Given the description of an element on the screen output the (x, y) to click on. 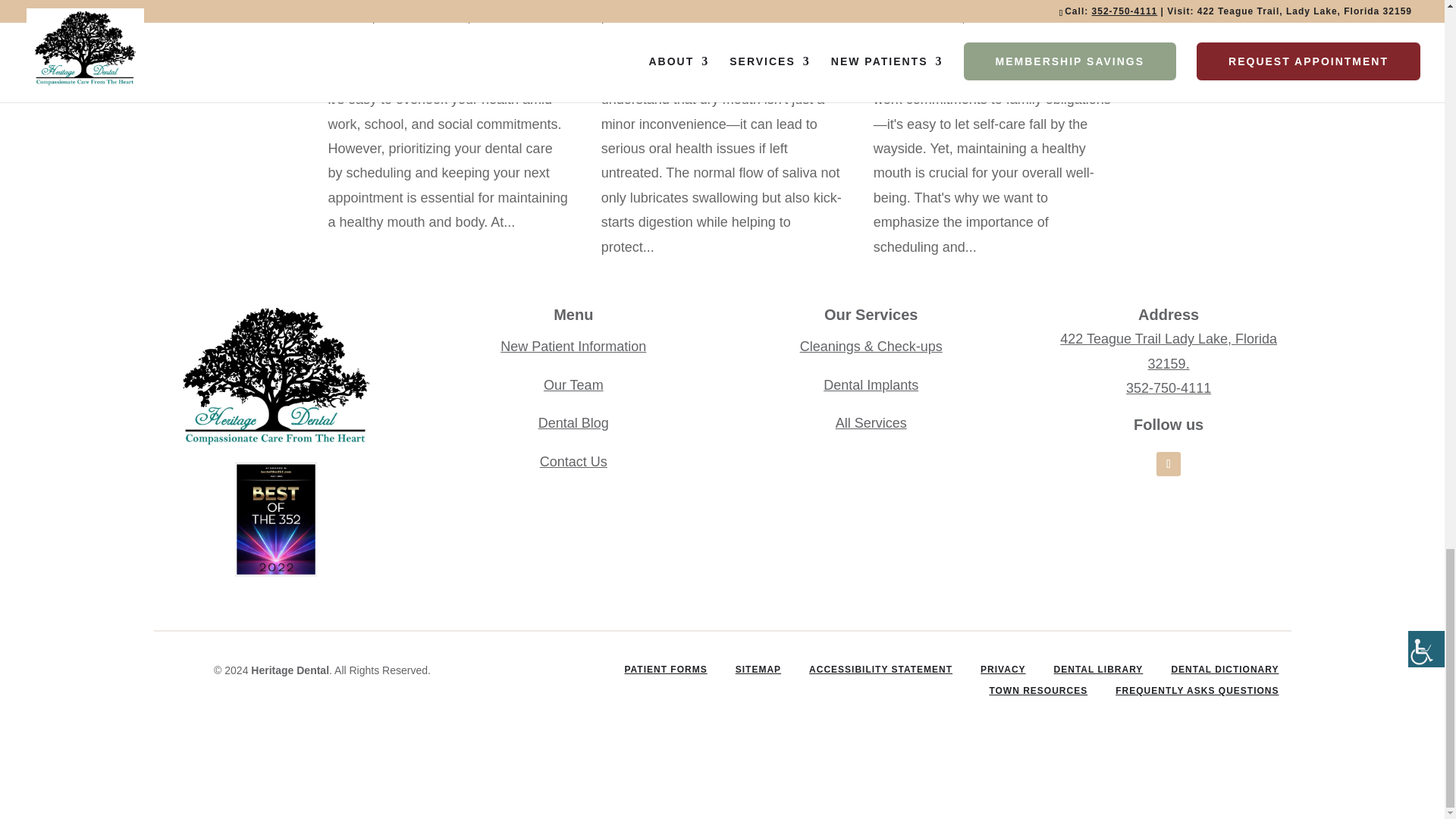
heritagedentaloffice logo new (275, 374)
Follow on Facebook (1168, 463)
